Given the description of an element on the screen output the (x, y) to click on. 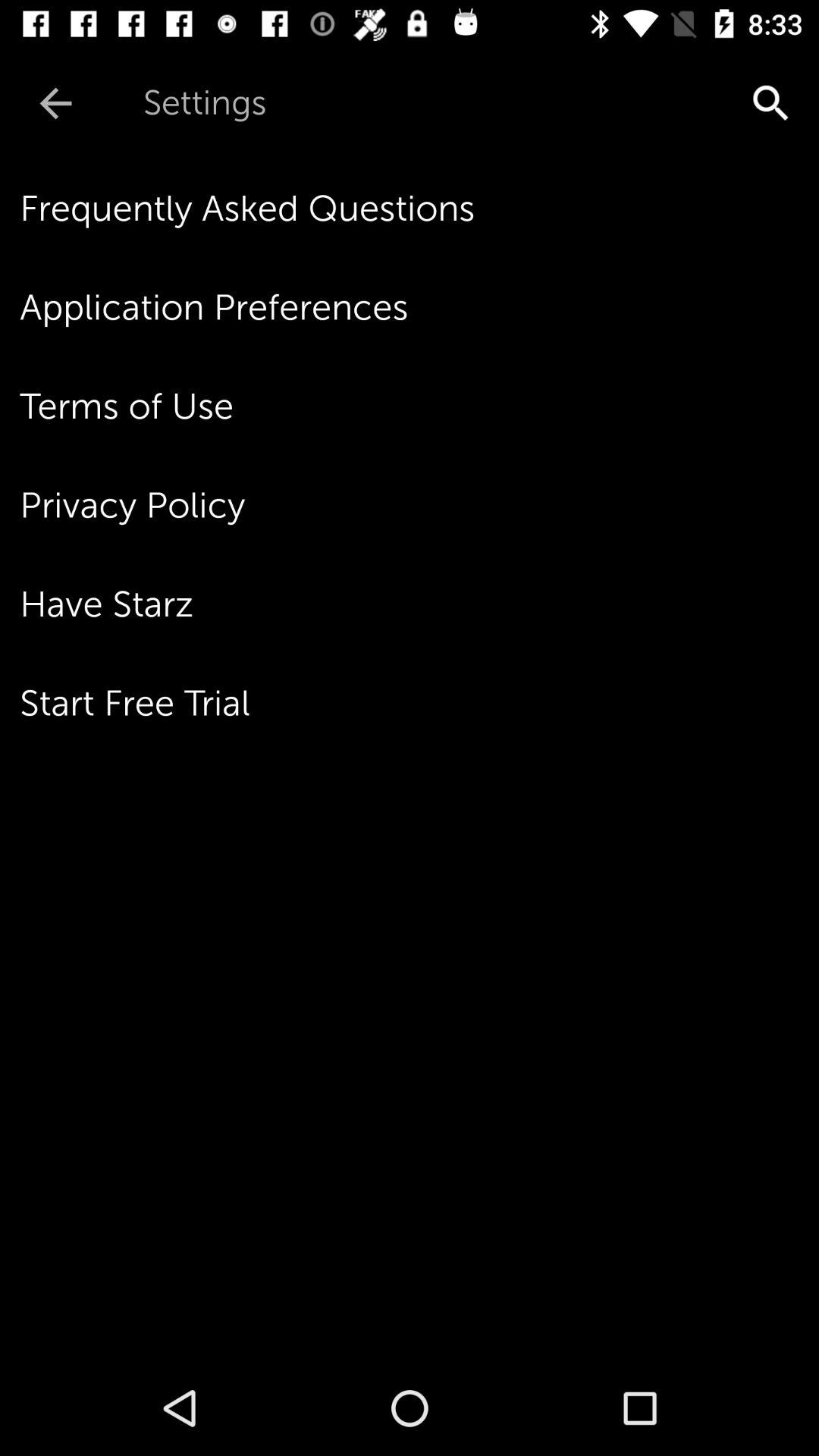
choose icon to the left of settings icon (55, 103)
